Given the description of an element on the screen output the (x, y) to click on. 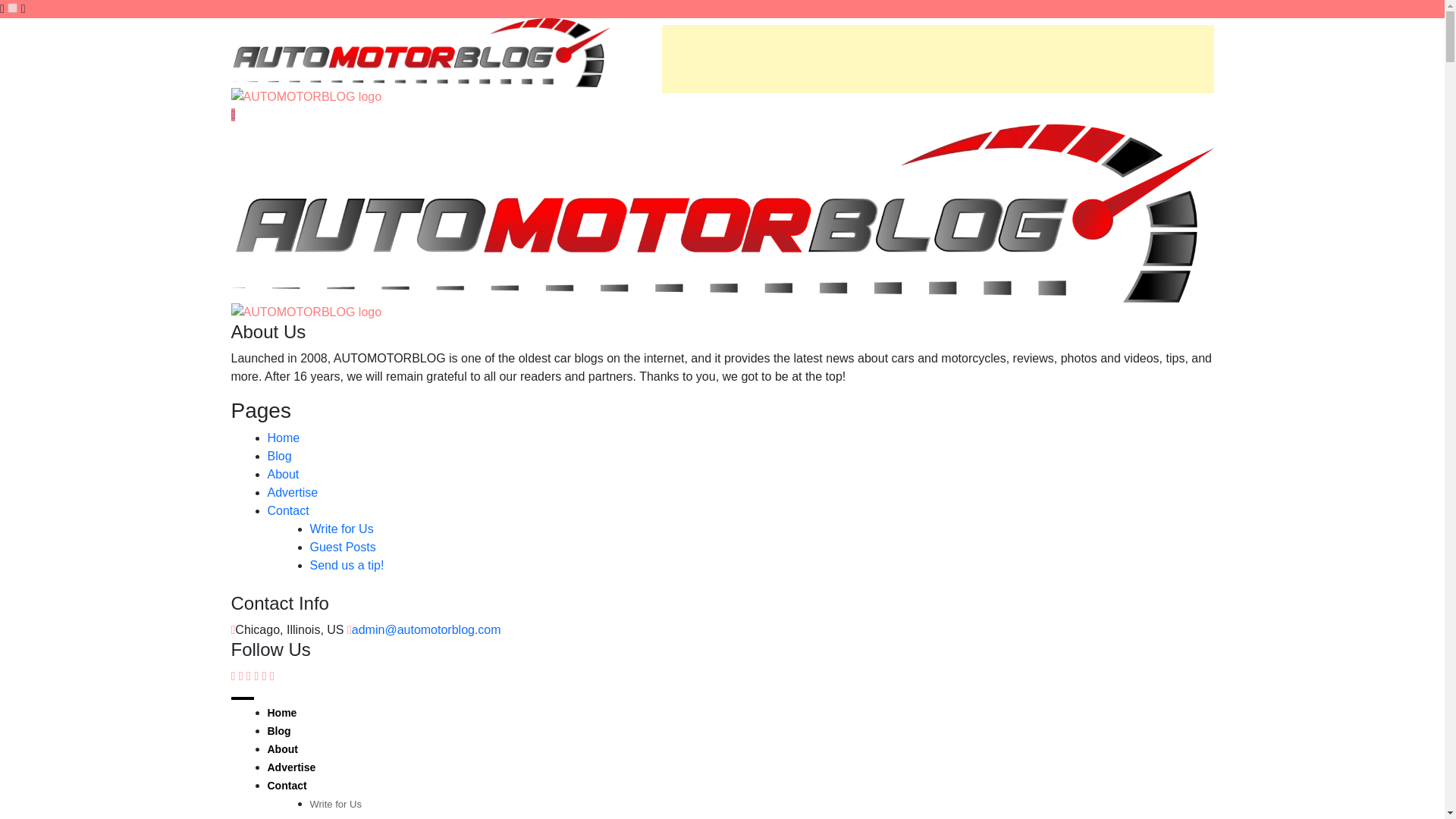
About (282, 473)
Contact (285, 785)
Advertise (290, 767)
Guest Posts (335, 817)
Blog (278, 455)
Guest Posts (341, 546)
Blog (277, 730)
Home (282, 437)
Advertise (291, 492)
Send us a tip! (346, 564)
Write for Us (334, 803)
on (12, 8)
About (281, 748)
Contact (287, 510)
Home (281, 712)
